Given the description of an element on the screen output the (x, y) to click on. 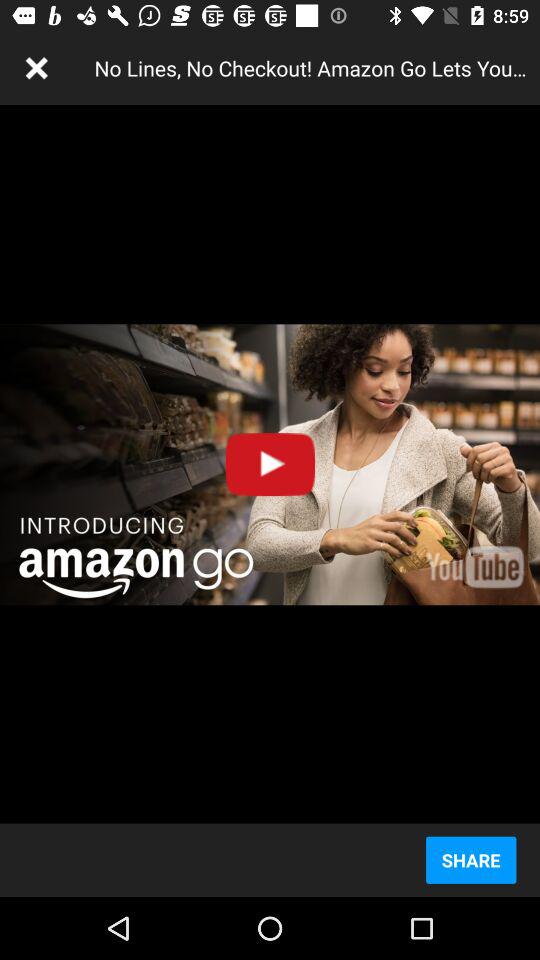
turn off the item at the top left corner (36, 68)
